Given the description of an element on the screen output the (x, y) to click on. 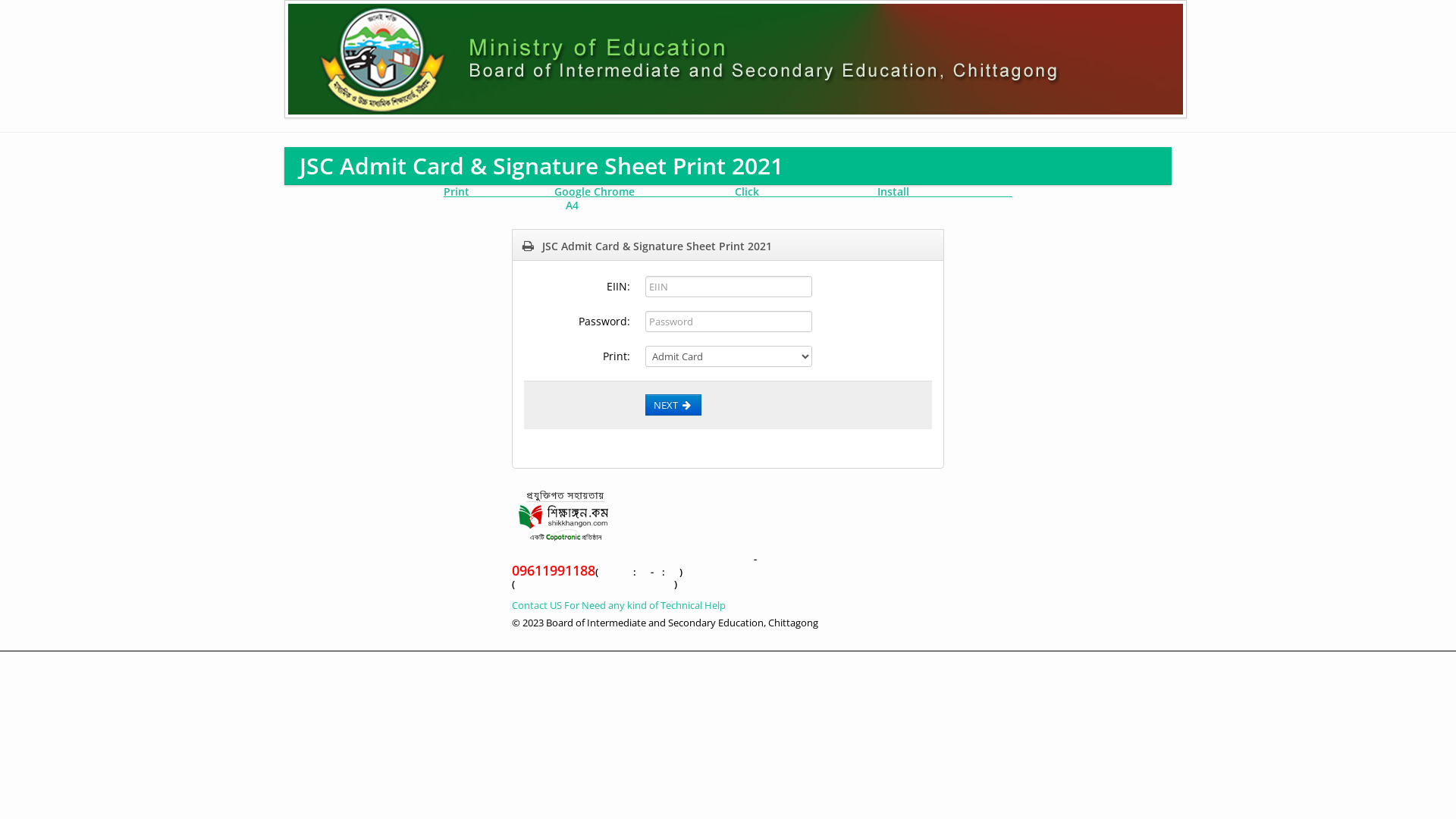
NEXT Element type: text (673, 404)
Contact US For Need any kind of Technical Help Element type: text (618, 604)
